Given the description of an element on the screen output the (x, y) to click on. 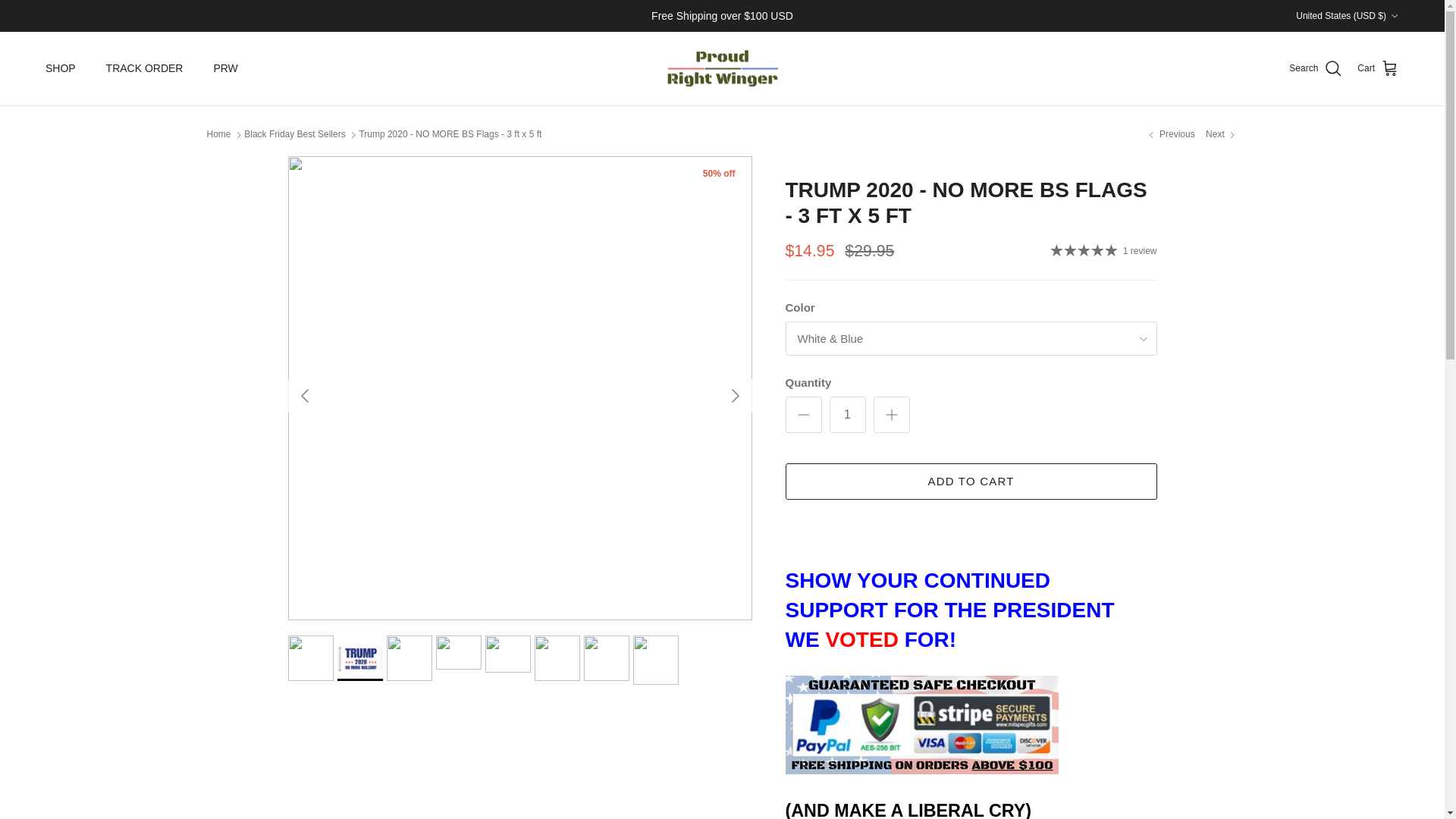
PRW (224, 68)
PRW (721, 68)
Search (1315, 68)
MAGA - Women's Leggings (1169, 133)
SHOP (60, 68)
TRACK ORDER (144, 68)
Cart (1377, 68)
1 (847, 414)
